Given the description of an element on the screen output the (x, y) to click on. 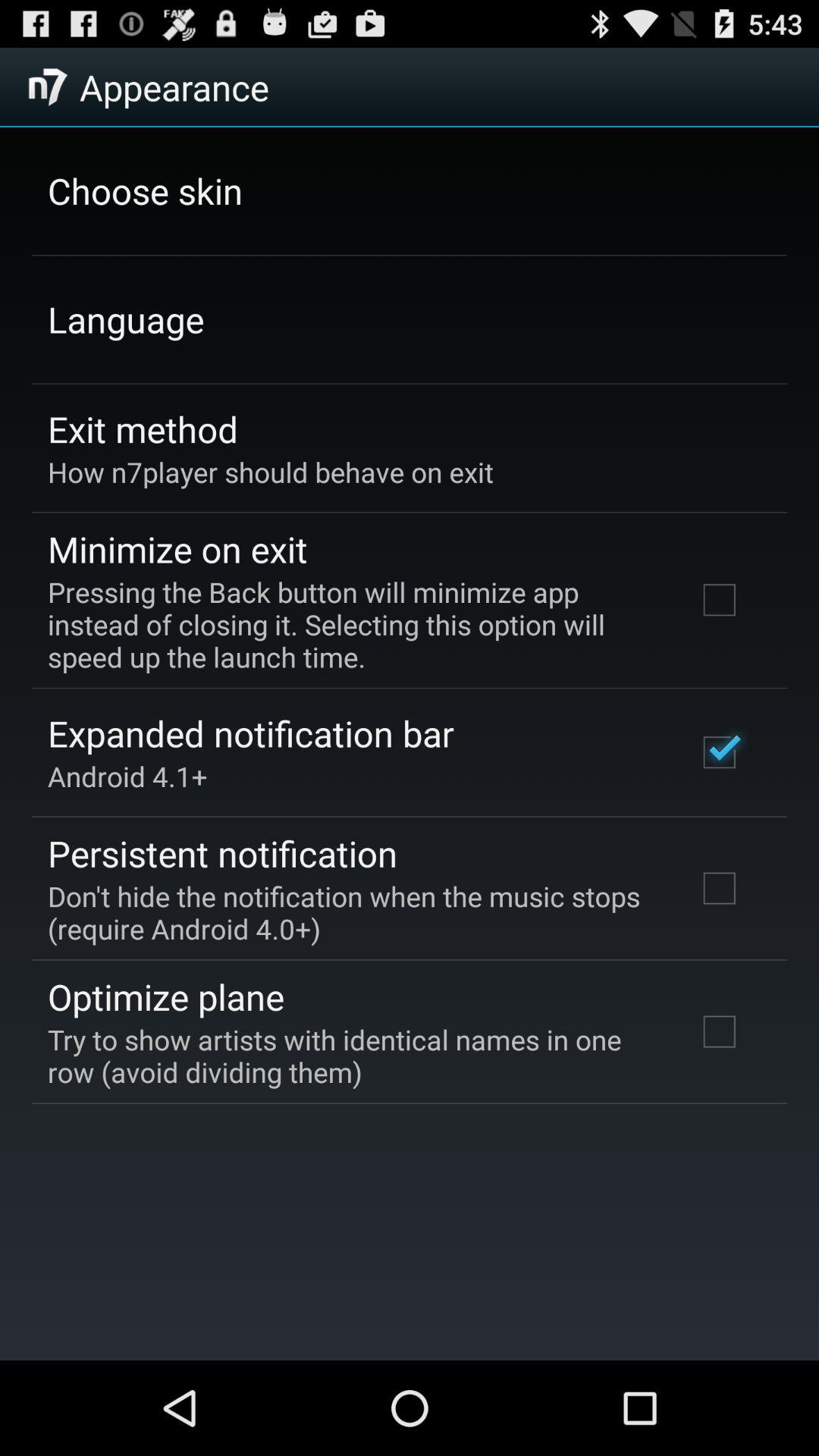
jump until the persistent notification (222, 853)
